Given the description of an element on the screen output the (x, y) to click on. 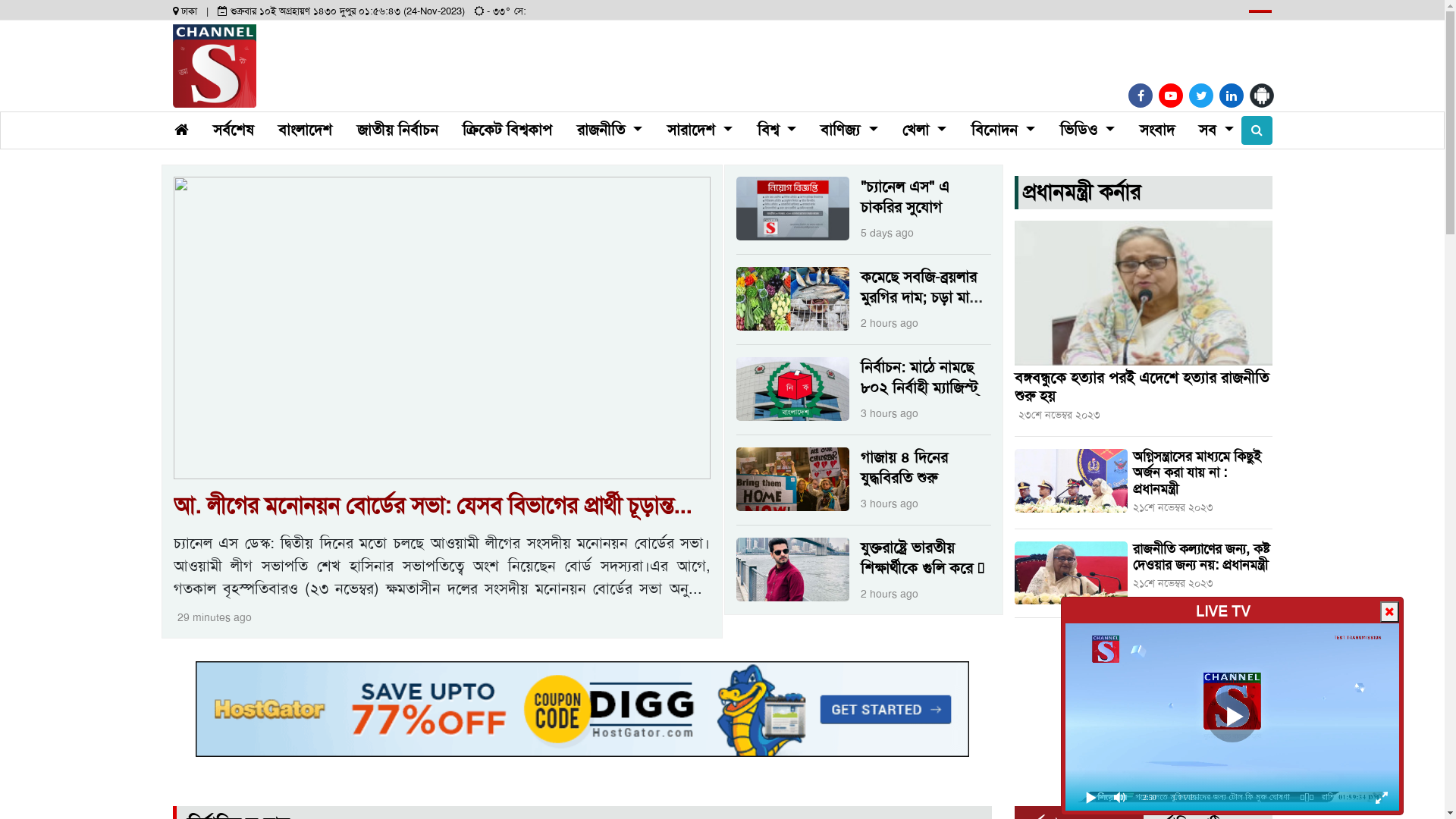
3 hours ago Element type: text (887, 503)
5 days ago Element type: text (884, 232)
2 hours ago Element type: text (887, 593)
3 hours ago Element type: text (887, 412)
2 hours ago Element type: text (887, 322)
